Given the description of an element on the screen output the (x, y) to click on. 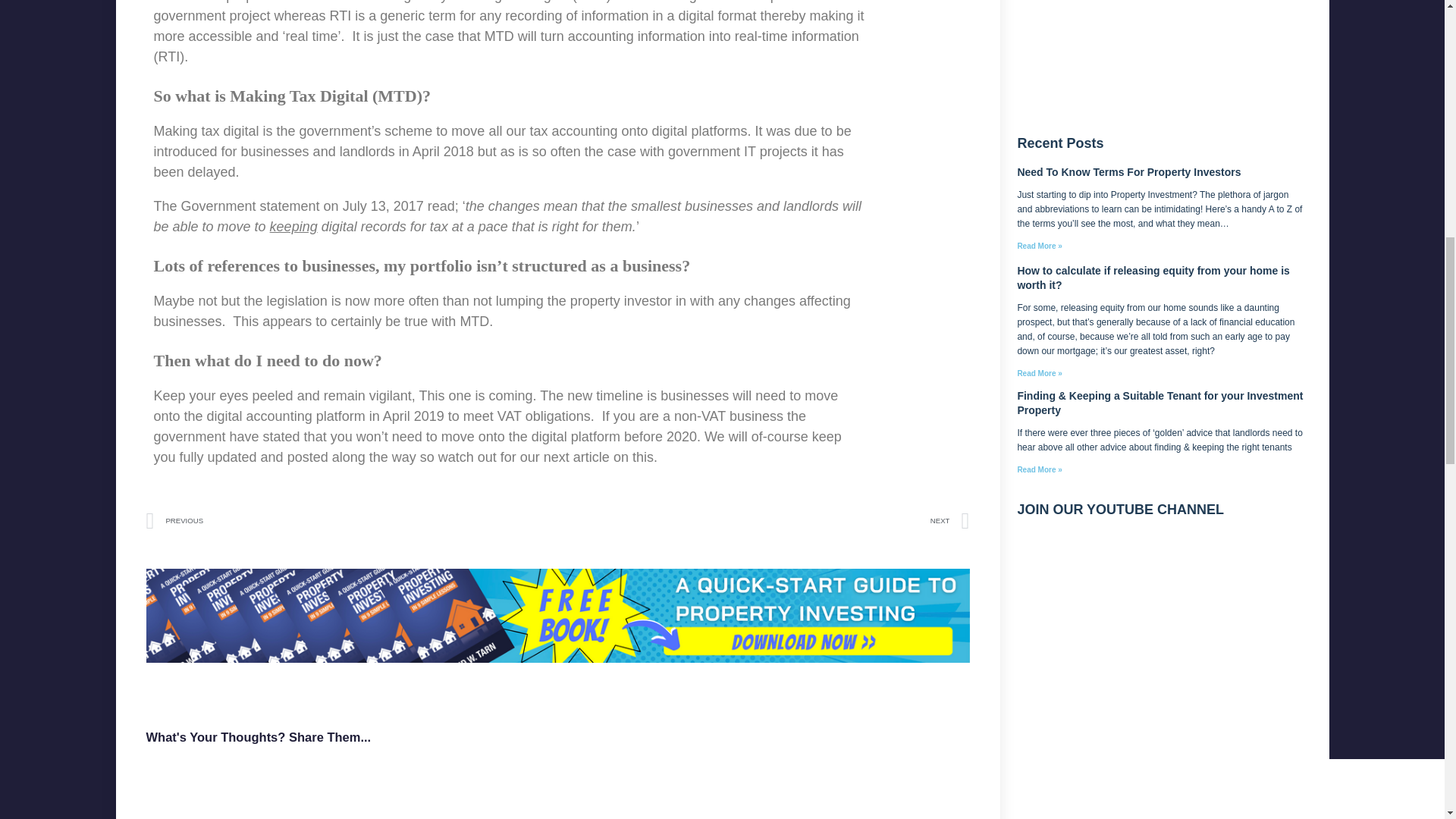
NEXT (763, 521)
PREVIOUS (351, 521)
Need To Know Terms For Property Investors (1128, 172)
